Given the description of an element on the screen output the (x, y) to click on. 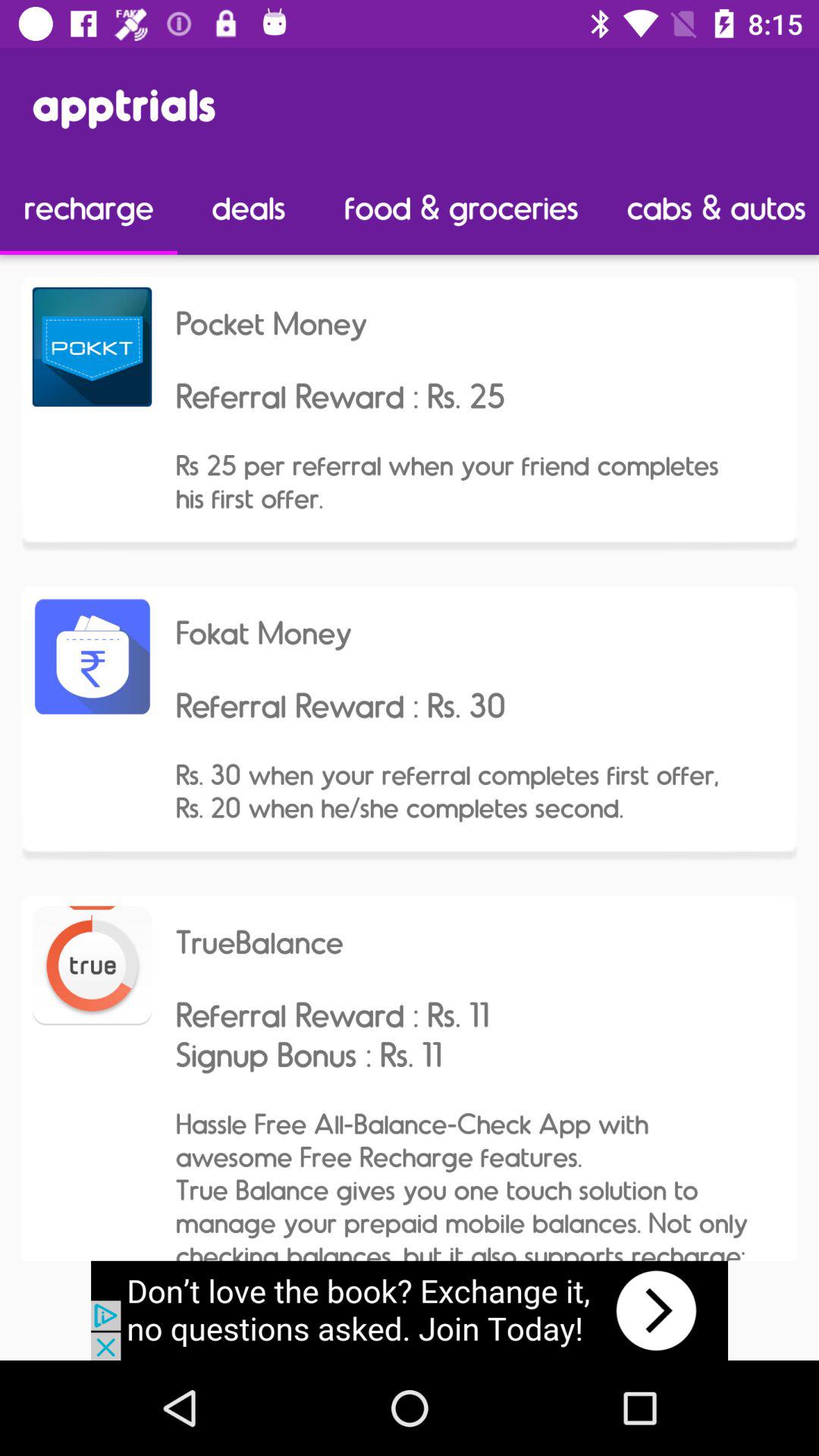
advertisement box (409, 1310)
